Given the description of an element on the screen output the (x, y) to click on. 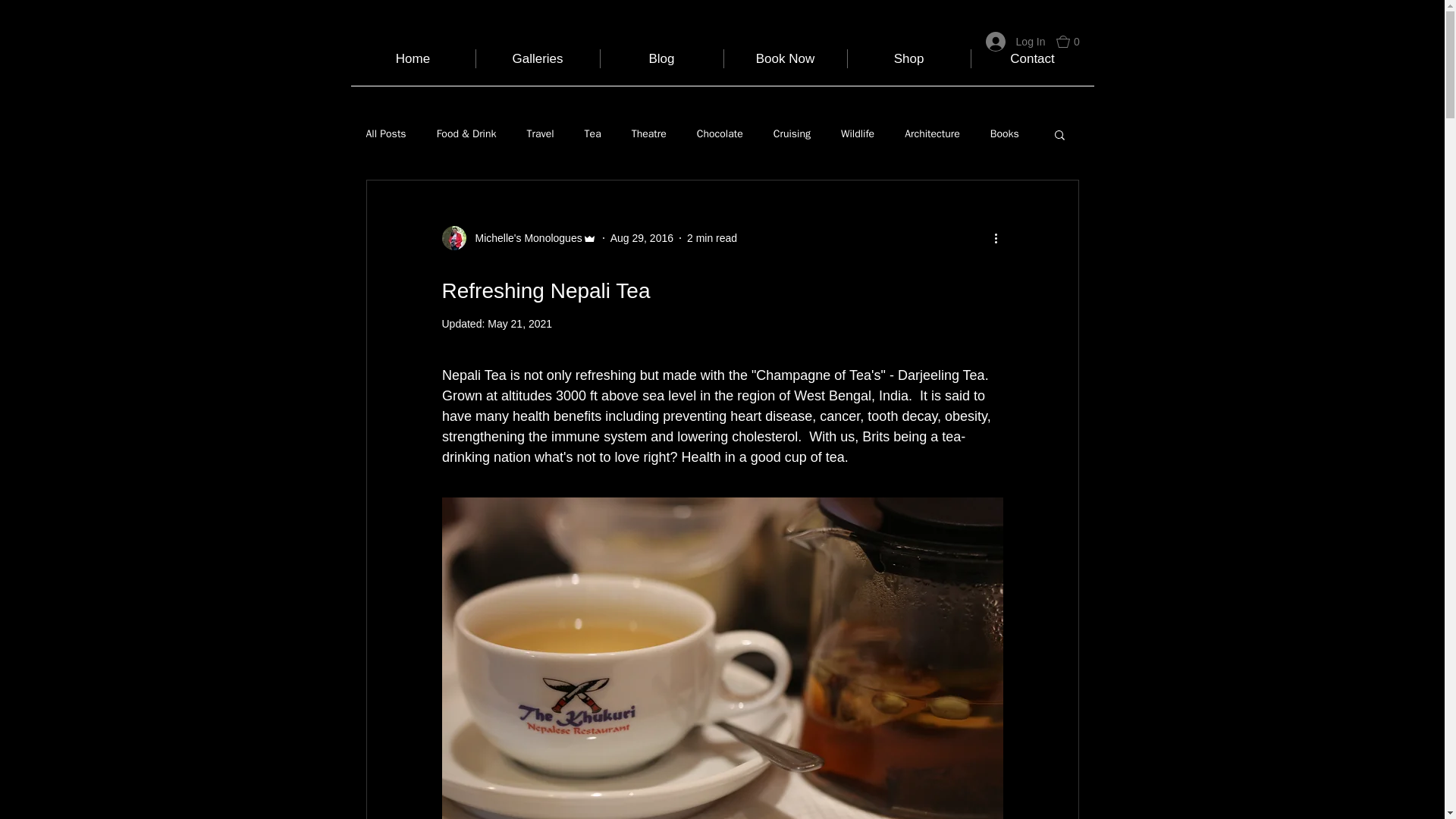
Log In (1016, 41)
Home (412, 58)
Chocolate (719, 133)
Wildlife (858, 133)
Travel (539, 133)
All Posts (385, 133)
Cruising (791, 133)
May 21, 2021 (519, 323)
Michelle's Monologues (522, 238)
Books (1004, 133)
